Given the description of an element on the screen output the (x, y) to click on. 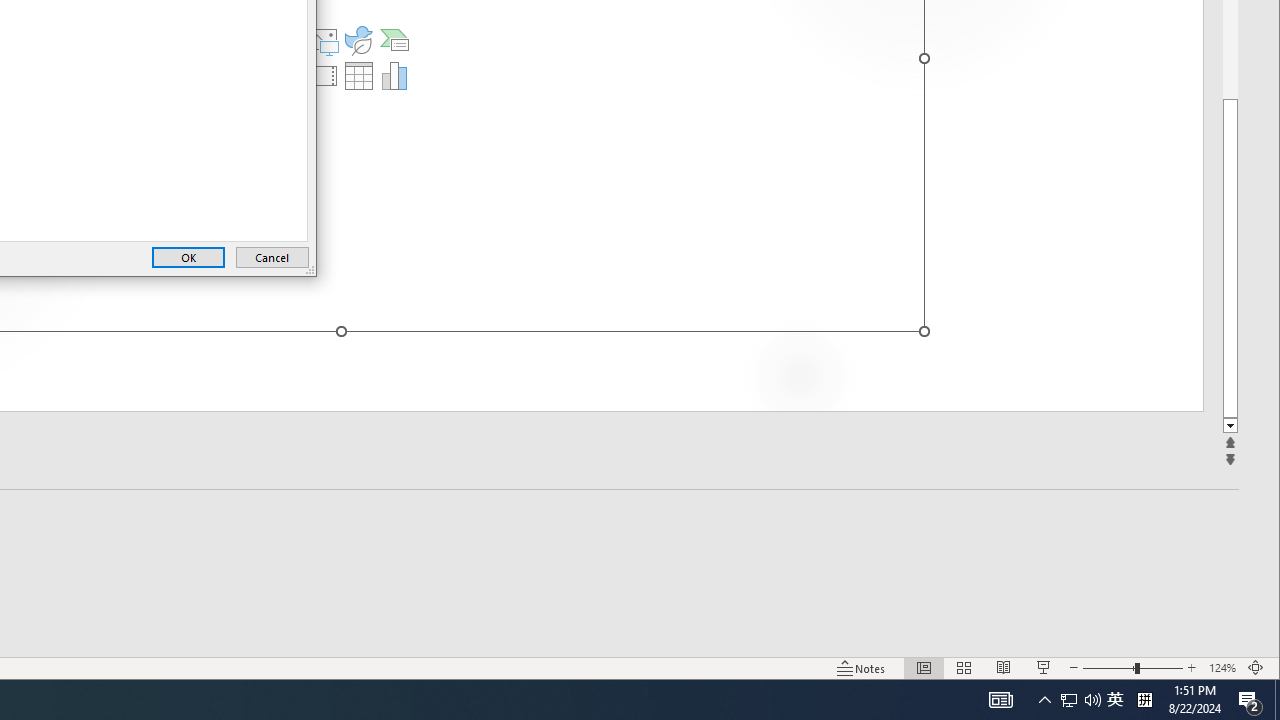
OK (188, 257)
Zoom 124% (1222, 668)
